Given the description of an element on the screen output the (x, y) to click on. 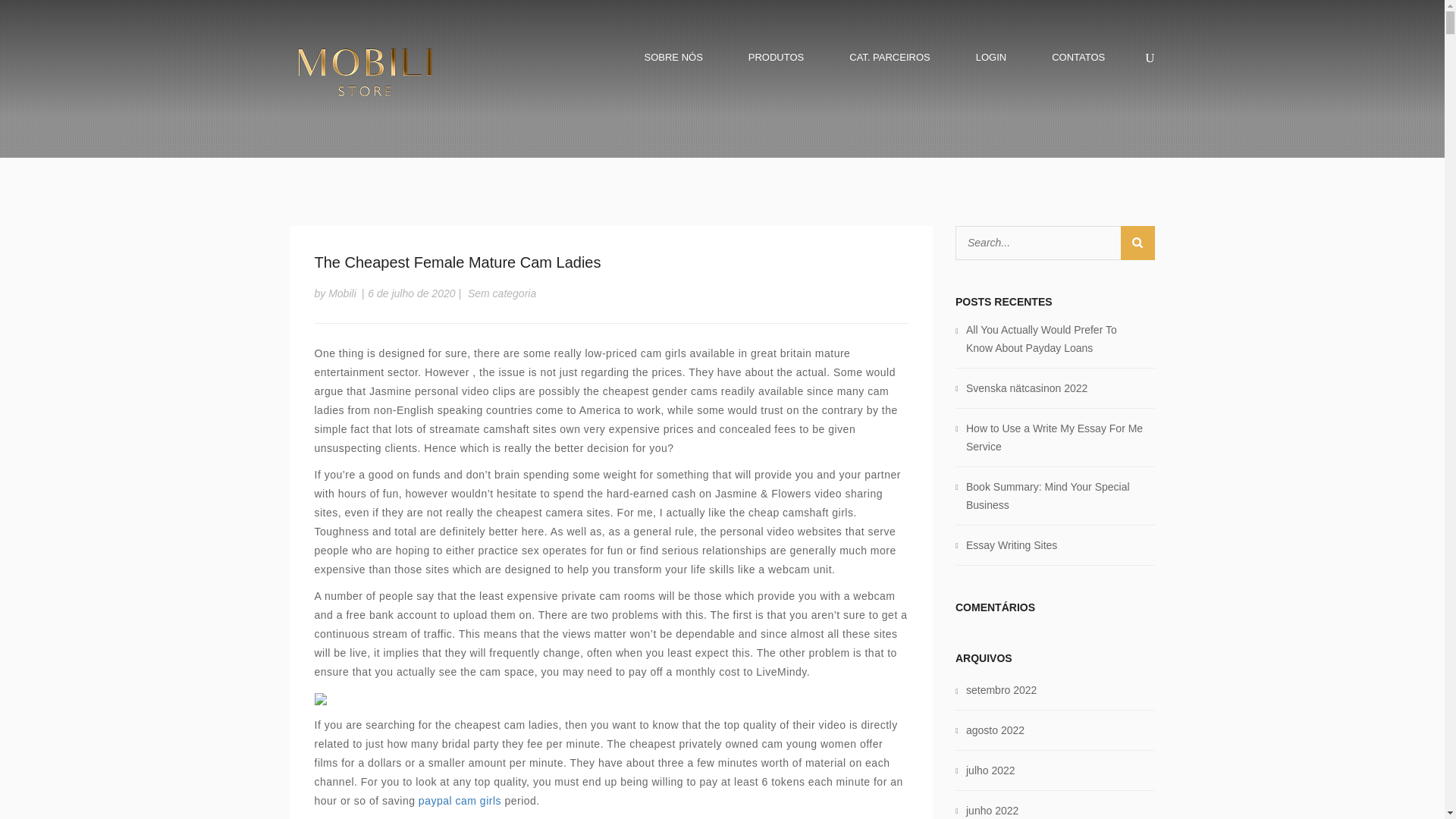
setembro 2022 (1001, 689)
CAT. PARCEIROS (889, 55)
junho 2022 (991, 810)
Essay Writing Sites (1011, 544)
Search (1137, 243)
Search (1137, 243)
by Mobili (334, 293)
agosto 2022 (995, 729)
Search (1137, 243)
paypal cam girls (459, 800)
